Given the description of an element on the screen output the (x, y) to click on. 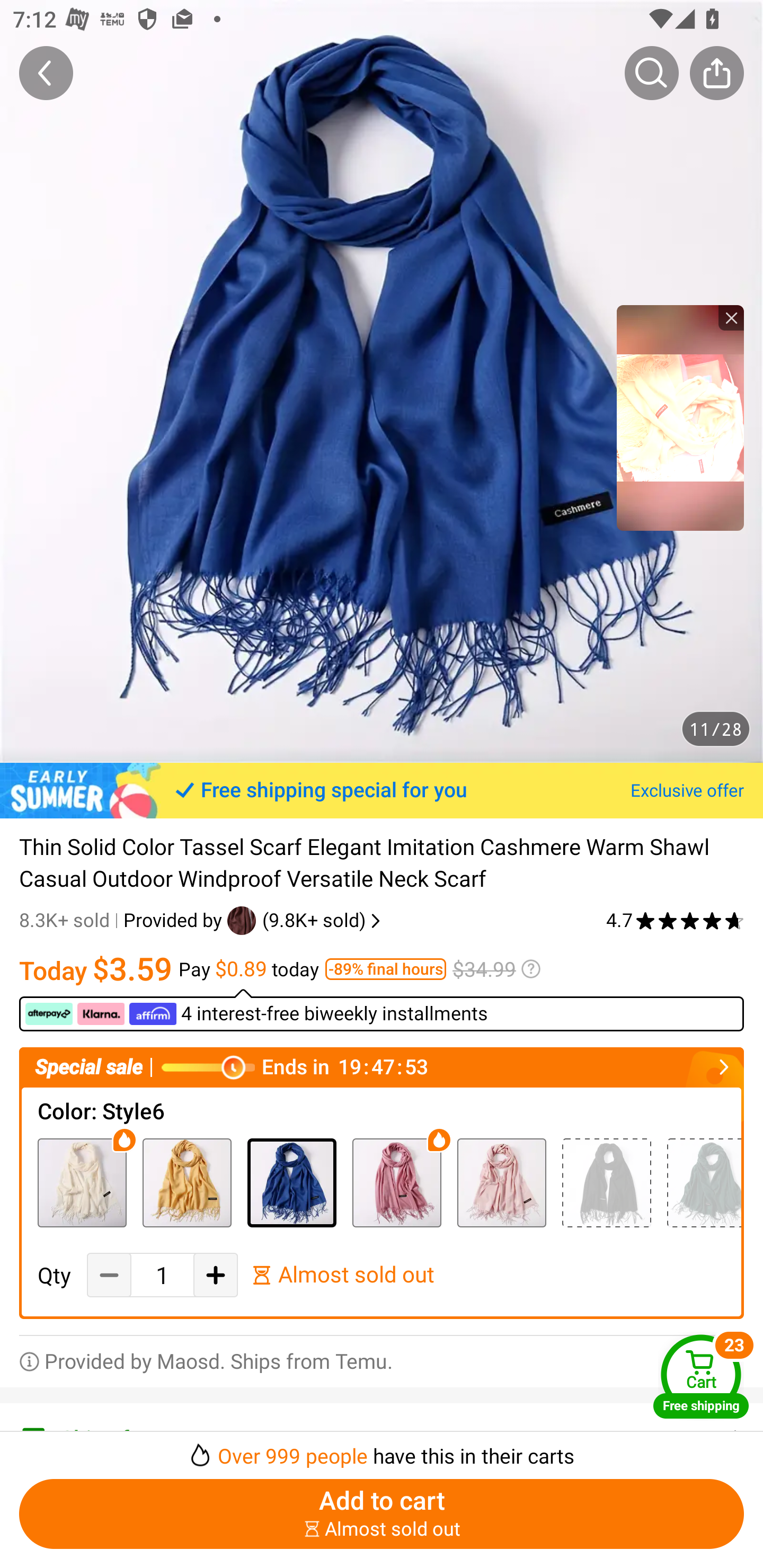
Back (46, 72)
Share (716, 72)
Free shipping special for you Exclusive offer (381, 790)
8.3K+ sold Provided by  (123, 920)
4.7 (674, 920)
￼ ￼ ￼ 4 interest-free biweekly installments (381, 1009)
Special sale Ends in￼￼ (381, 1067)
Style2 (81, 1182)
Style3 (186, 1182)
Style6 (291, 1182)
14 (396, 1182)
Color #15 (501, 1182)
Style1 (606, 1182)
Style4 (703, 1182)
Decrease Quantity Button (108, 1274)
Add Quantity button (215, 1274)
1 (162, 1275)
Cart Free shipping Cart (701, 1375)
￼￼Over 999 people have this in their carts (381, 1450)
Add to cart ￼￼Almost sold out (381, 1513)
